Given the description of an element on the screen output the (x, y) to click on. 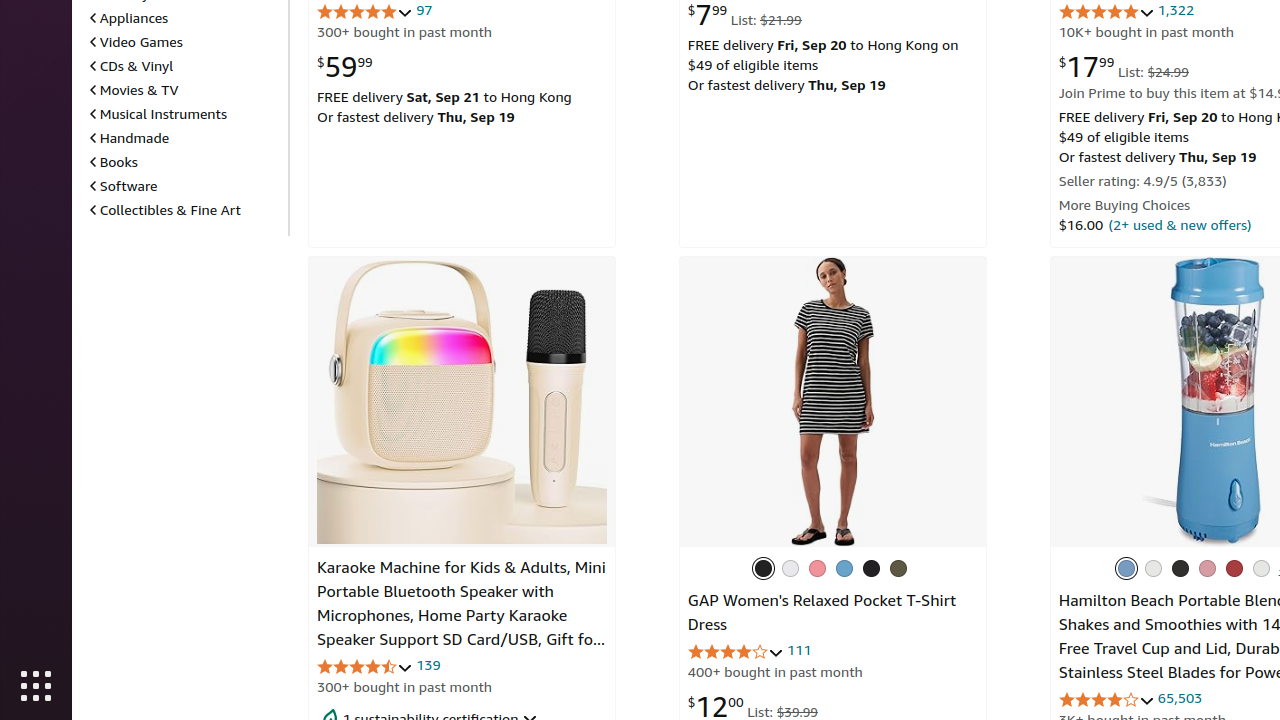
Musical Instruments Element type: link (158, 113)
Red Element type: push-button (1234, 568)
65,503 Element type: link (1180, 698)
4.2 out of 5 stars Element type: push-button (1106, 699)
Video Games Element type: link (136, 41)
